Given the description of an element on the screen output the (x, y) to click on. 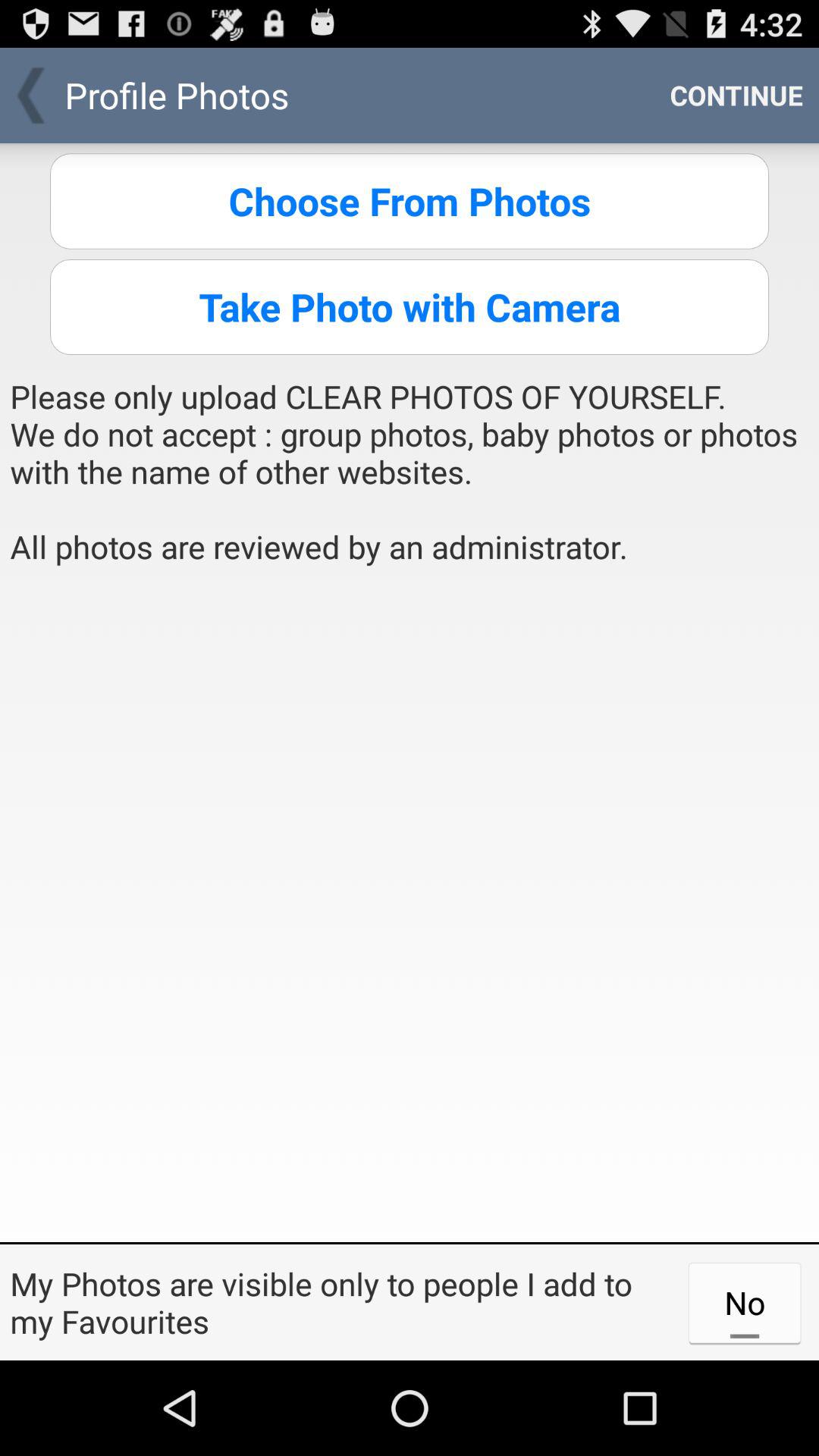
swipe until the no (744, 1302)
